Given the description of an element on the screen output the (x, y) to click on. 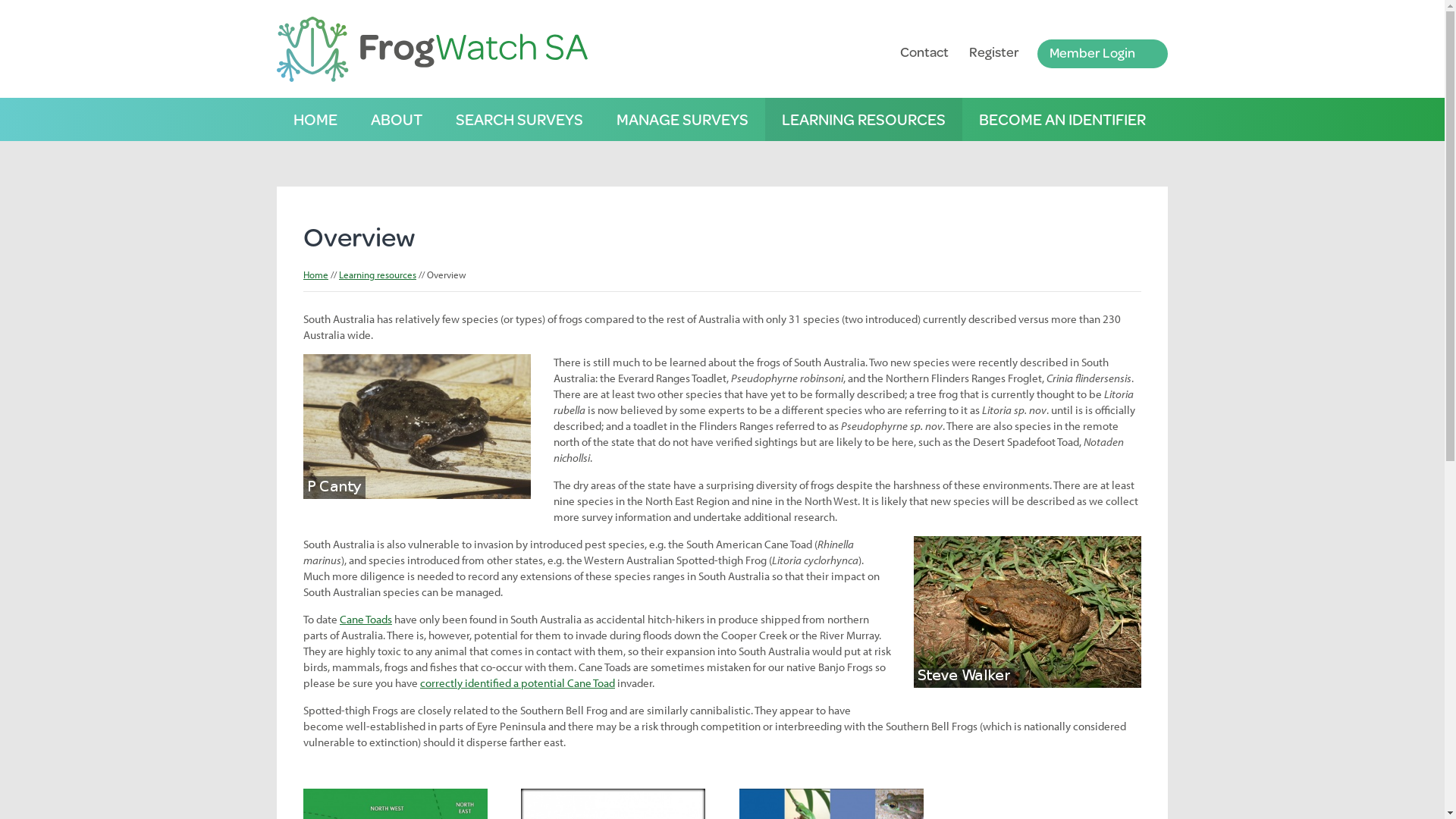
Cane Toads Element type: text (365, 618)
Learning resources Element type: text (377, 274)
MANAGE SURVEYS Element type: text (682, 119)
BECOME AN IDENTIFIER Element type: text (1062, 119)
correctly identified a potential Cane Toad Element type: text (517, 682)
Member Login Element type: text (1102, 53)
ABOUT Element type: text (396, 119)
Register Element type: text (994, 51)
Contact Element type: text (924, 51)
HOME Element type: text (315, 119)
Home Element type: text (315, 274)
LEARNING RESOURCES Element type: text (863, 119)
SEARCH SURVEYS Element type: text (519, 119)
